Given the description of an element on the screen output the (x, y) to click on. 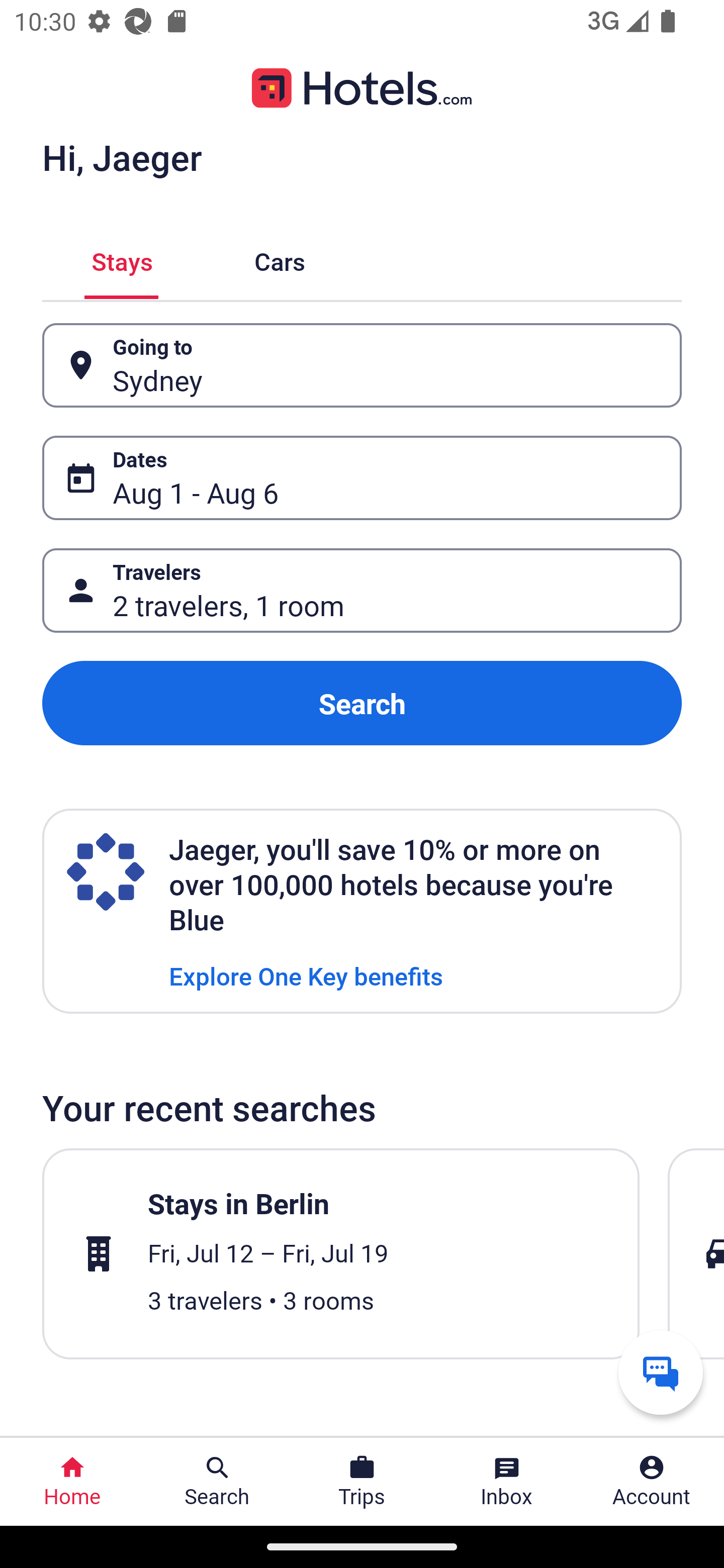
Hi, Jaeger (121, 156)
Cars (279, 259)
Going to Button Sydney (361, 365)
Dates Button Aug 1 - Aug 6 (361, 477)
Travelers Button 2 travelers, 1 room (361, 590)
Search (361, 702)
Get help from a virtual agent (660, 1371)
Search Search Button (216, 1481)
Trips Trips Button (361, 1481)
Inbox Inbox Button (506, 1481)
Account Profile. Button (651, 1481)
